Given the description of an element on the screen output the (x, y) to click on. 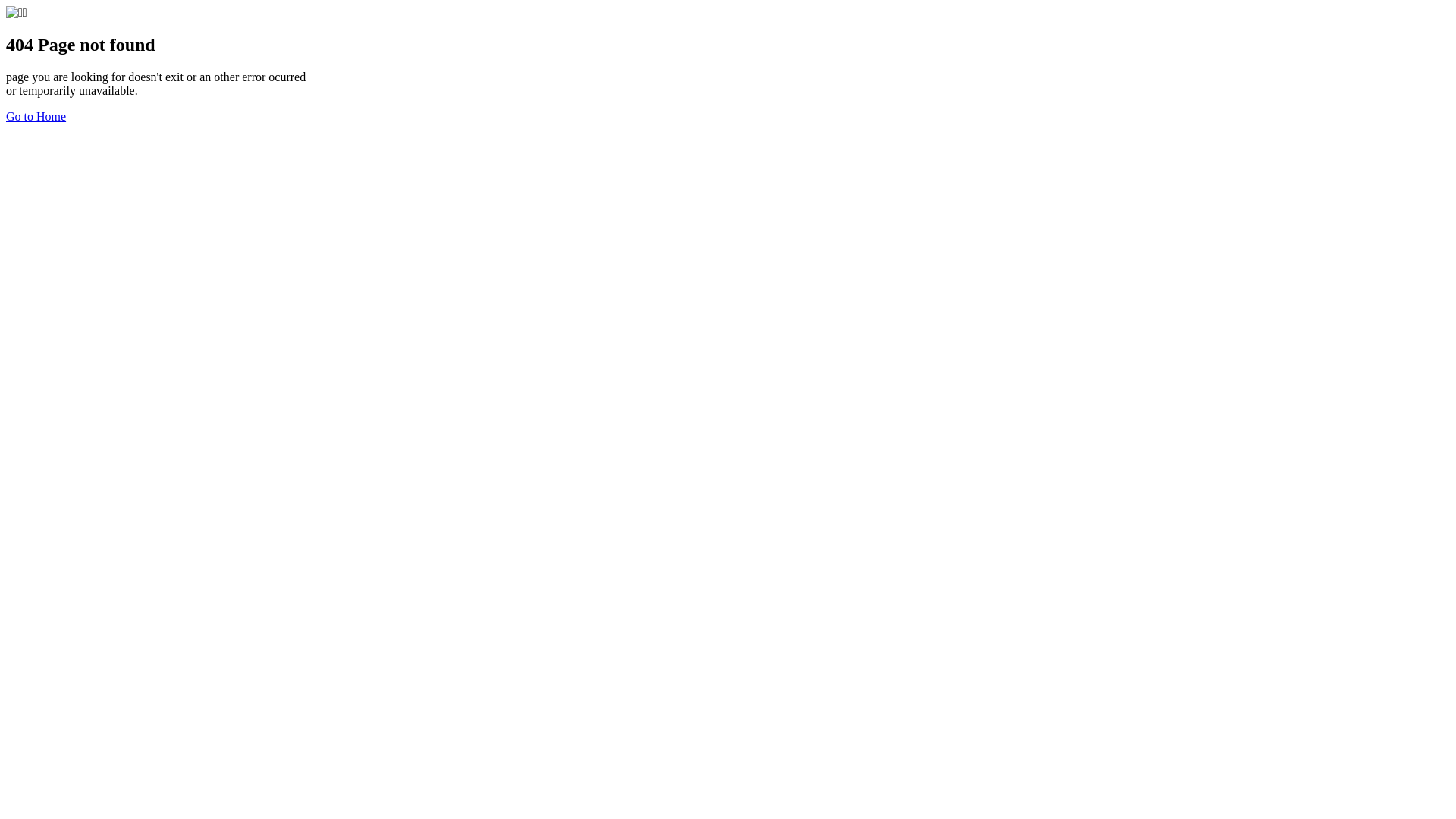
Go to Home Element type: text (35, 115)
